Given the description of an element on the screen output the (x, y) to click on. 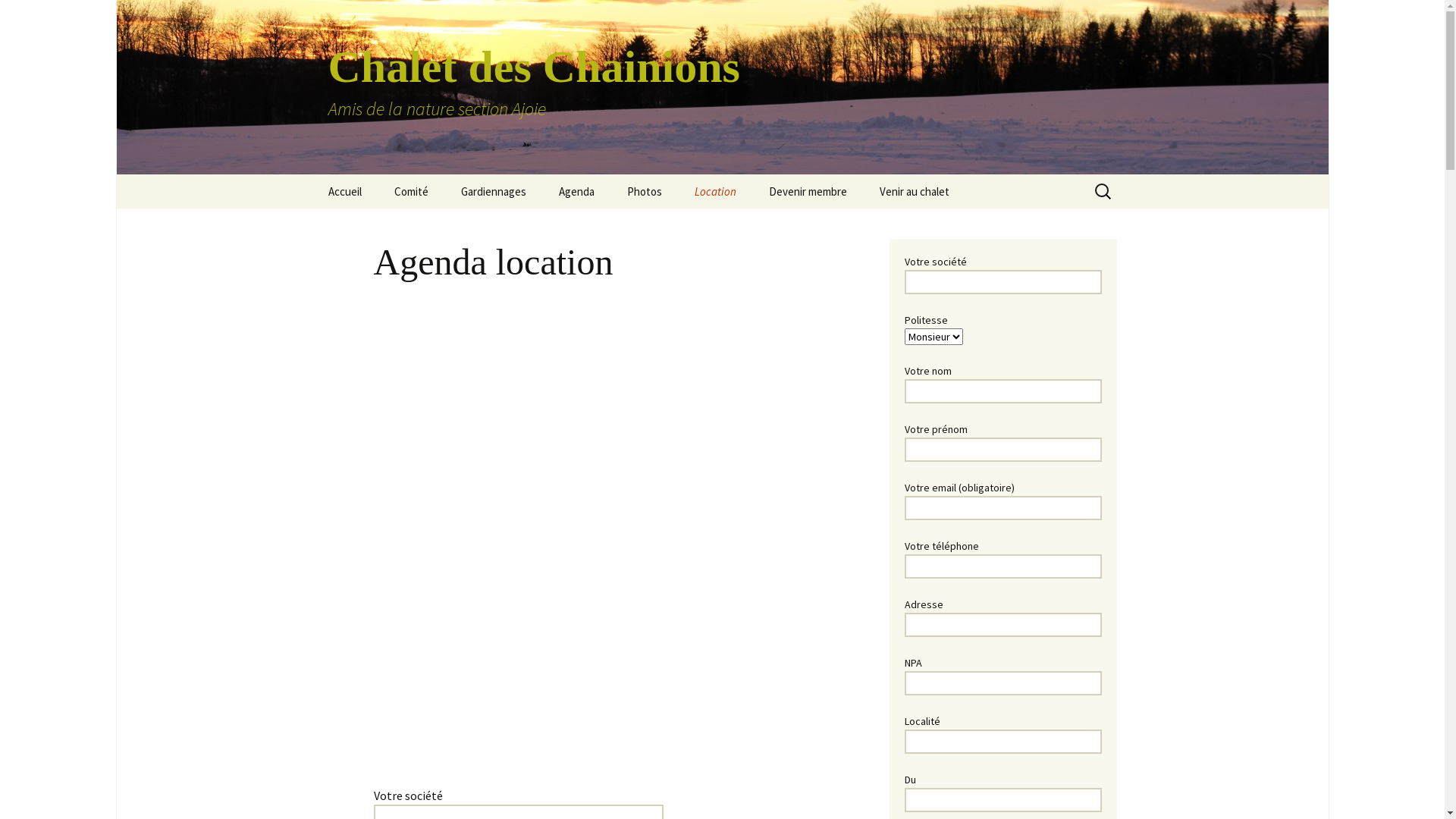
Aller au contenu Element type: text (312, 173)
Agenda Element type: text (575, 191)
Comment venir ? Element type: text (940, 225)
Venir au chalet Element type: text (914, 191)
Accueil Element type: text (344, 191)
Gardiennages Element type: text (493, 191)
Photos Element type: text (643, 191)
Location Element type: text (715, 191)
Archives Element type: text (686, 225)
Chalet des Chainions
Amis de la nature section Ajoie Element type: text (721, 87)
Rechercher Element type: text (18, 16)
Rechercher Element type: text (44, 15)
Tarifs pour la location Element type: text (755, 225)
Devenir membre Element type: text (807, 191)
